Given the description of an element on the screen output the (x, y) to click on. 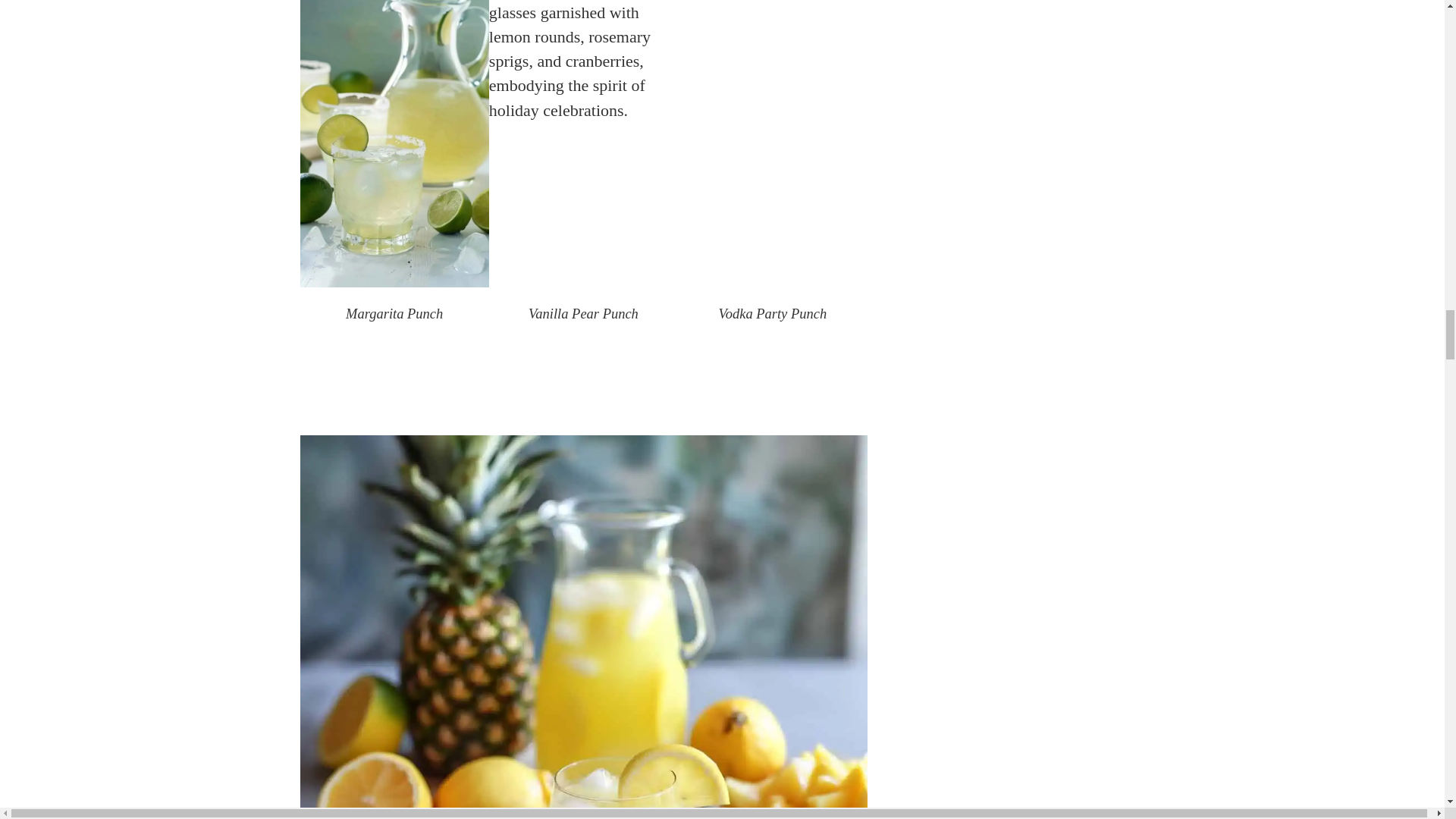
Vanilla Pear Punch (583, 313)
Margarita Punch (394, 313)
Vodka Party Punch (772, 313)
